Given the description of an element on the screen output the (x, y) to click on. 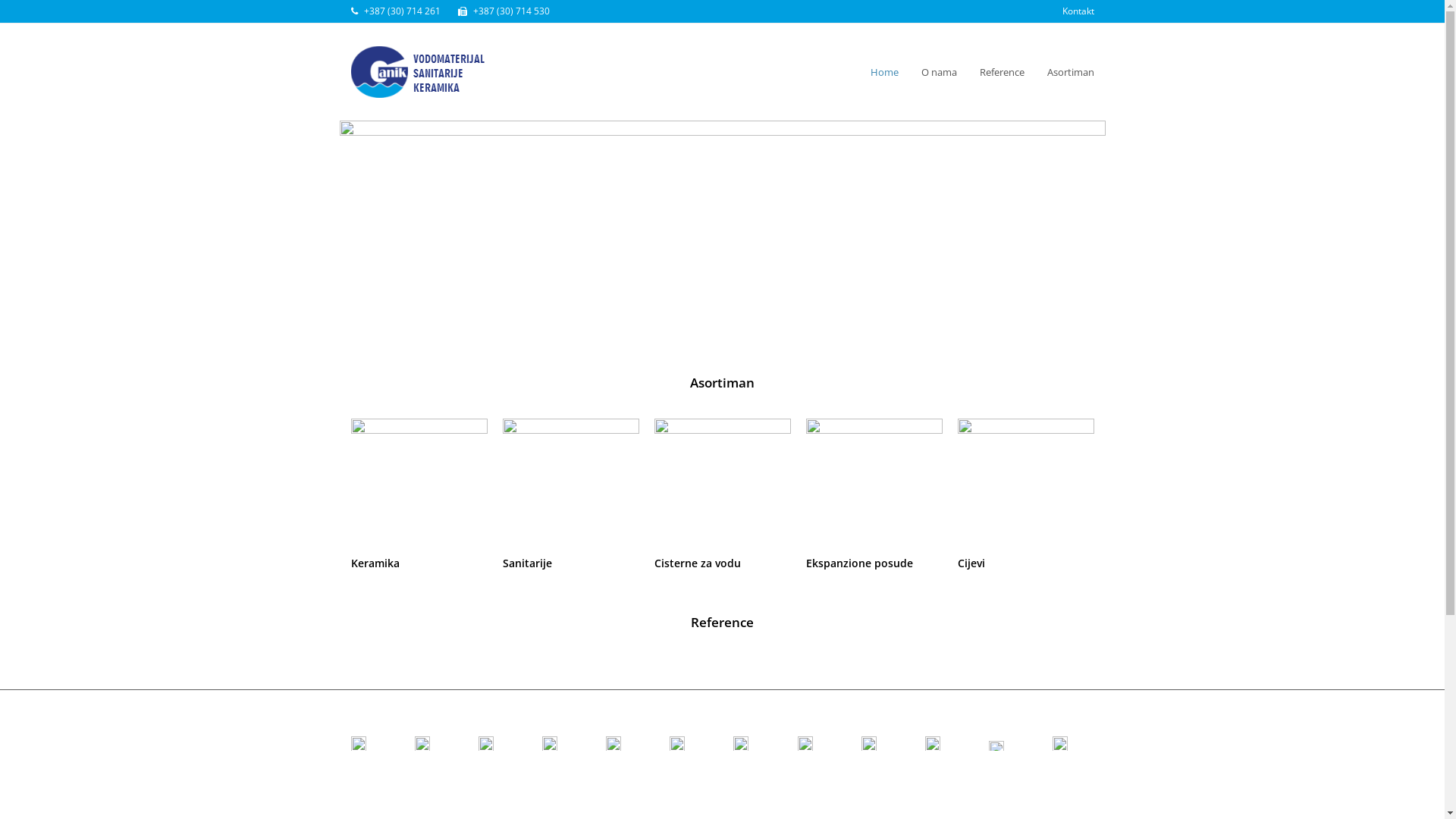
Kontakt Element type: text (1077, 10)
Keramika Element type: hover (418, 486)
Ekspanzione posude Element type: text (858, 562)
Sanitarije Element type: text (526, 562)
Asortiman Element type: text (1070, 72)
Ekspanzione posude Element type: hover (873, 486)
Keramika Element type: text (374, 562)
Reference Element type: text (1001, 72)
O nama Element type: text (939, 72)
Cijevi Element type: text (970, 562)
Sanitarije Element type: hover (570, 486)
Cisterne za vodu Element type: hover (721, 486)
Home Element type: text (883, 72)
Cisterne za vodu Element type: text (696, 562)
Cijevi Element type: hover (1025, 486)
